Given the description of an element on the screen output the (x, y) to click on. 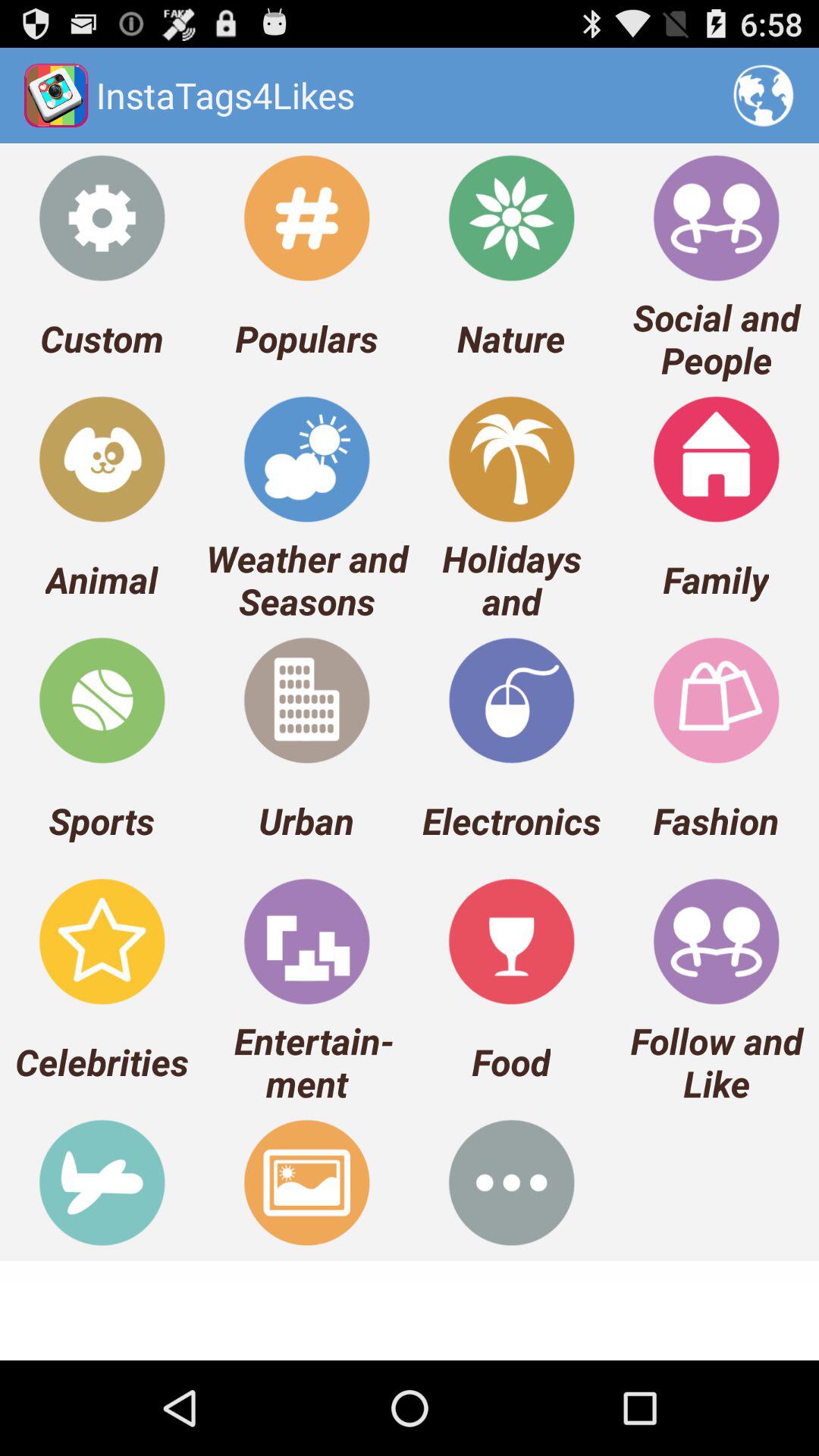
select the icon which is above the food (511, 941)
click on the icon above follow and like (716, 941)
select the icon which is above the sports (101, 700)
click the icon above custom (101, 217)
click the holidays and icon (511, 459)
